Given the description of an element on the screen output the (x, y) to click on. 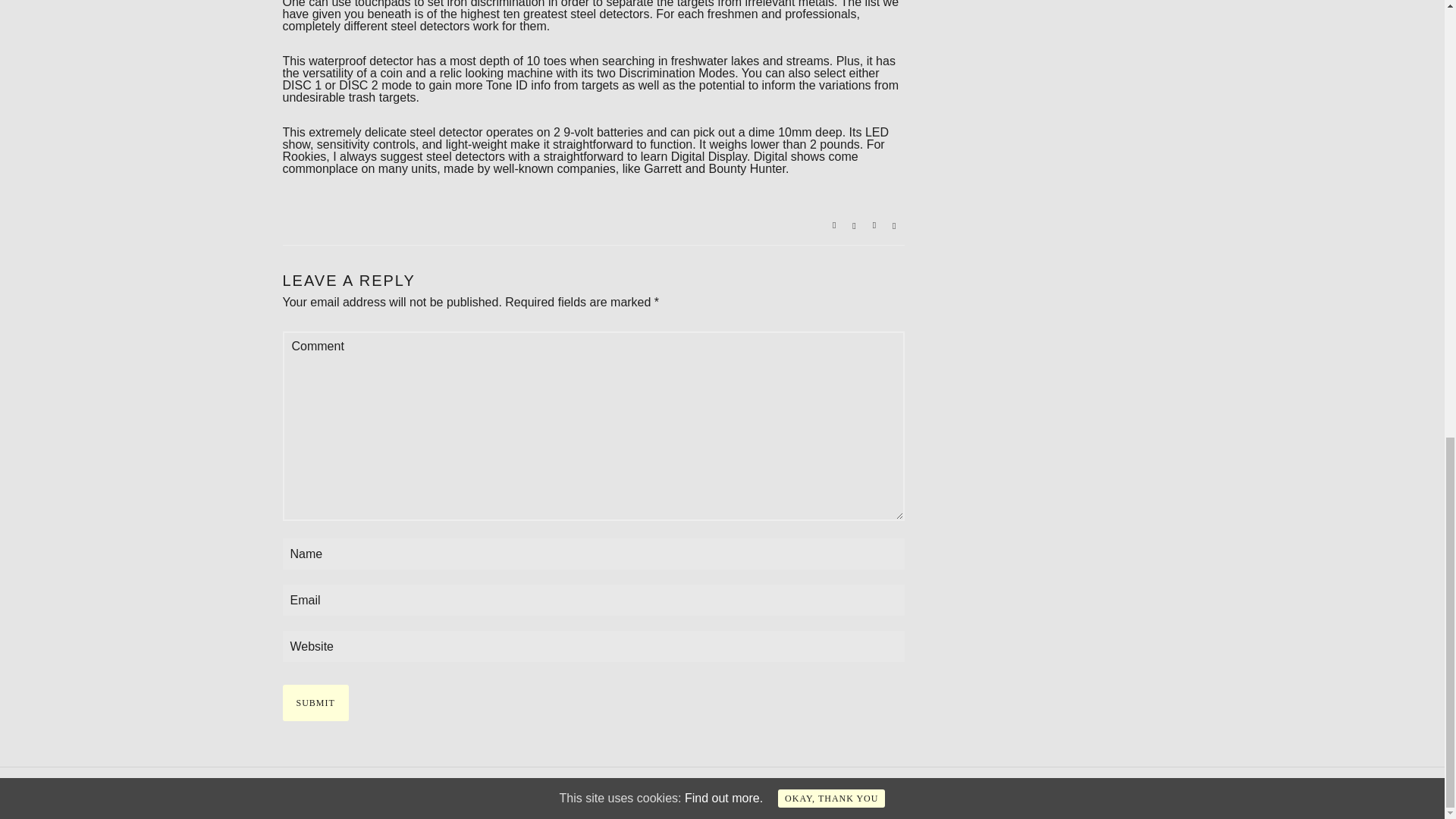
PRIVACY POLICY (327, 793)
RETURN POLICY (424, 793)
Submit (314, 702)
CONTACT (502, 793)
Submit (314, 702)
